Given the description of an element on the screen output the (x, y) to click on. 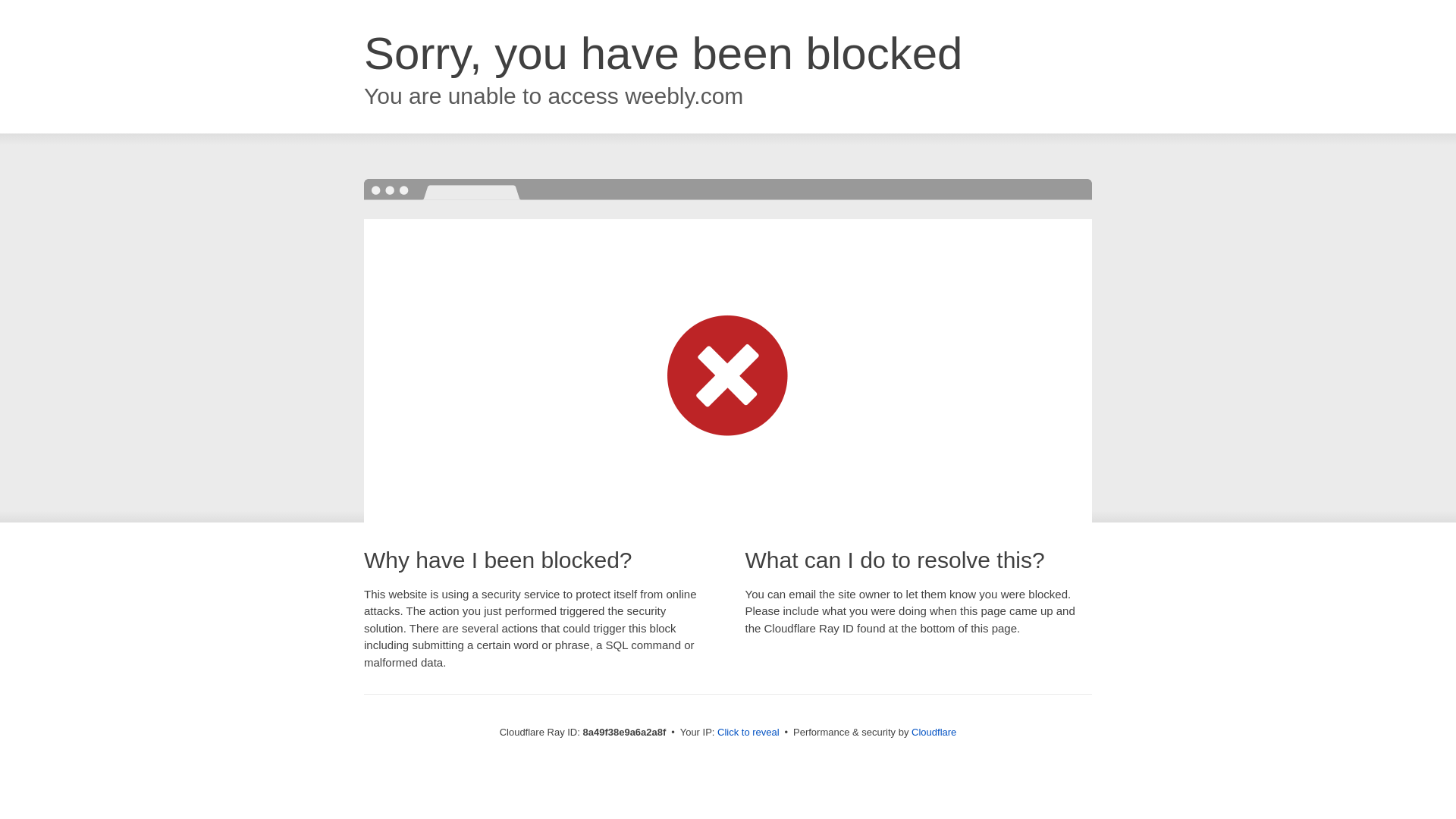
Click to reveal (747, 732)
Cloudflare (933, 731)
